Given the description of an element on the screen output the (x, y) to click on. 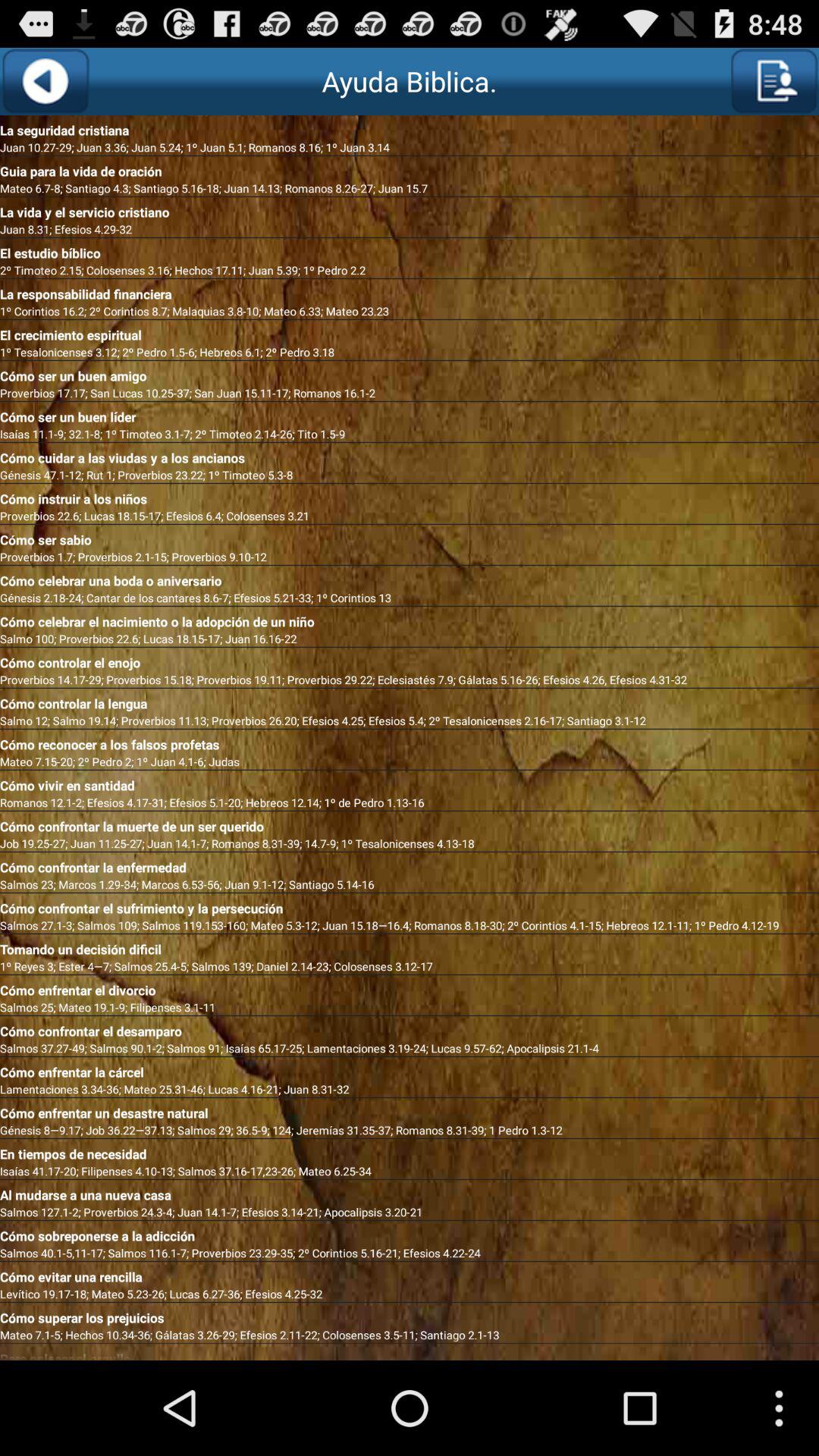
select the la responsabilidad financiera icon (409, 291)
